Given the description of an element on the screen output the (x, y) to click on. 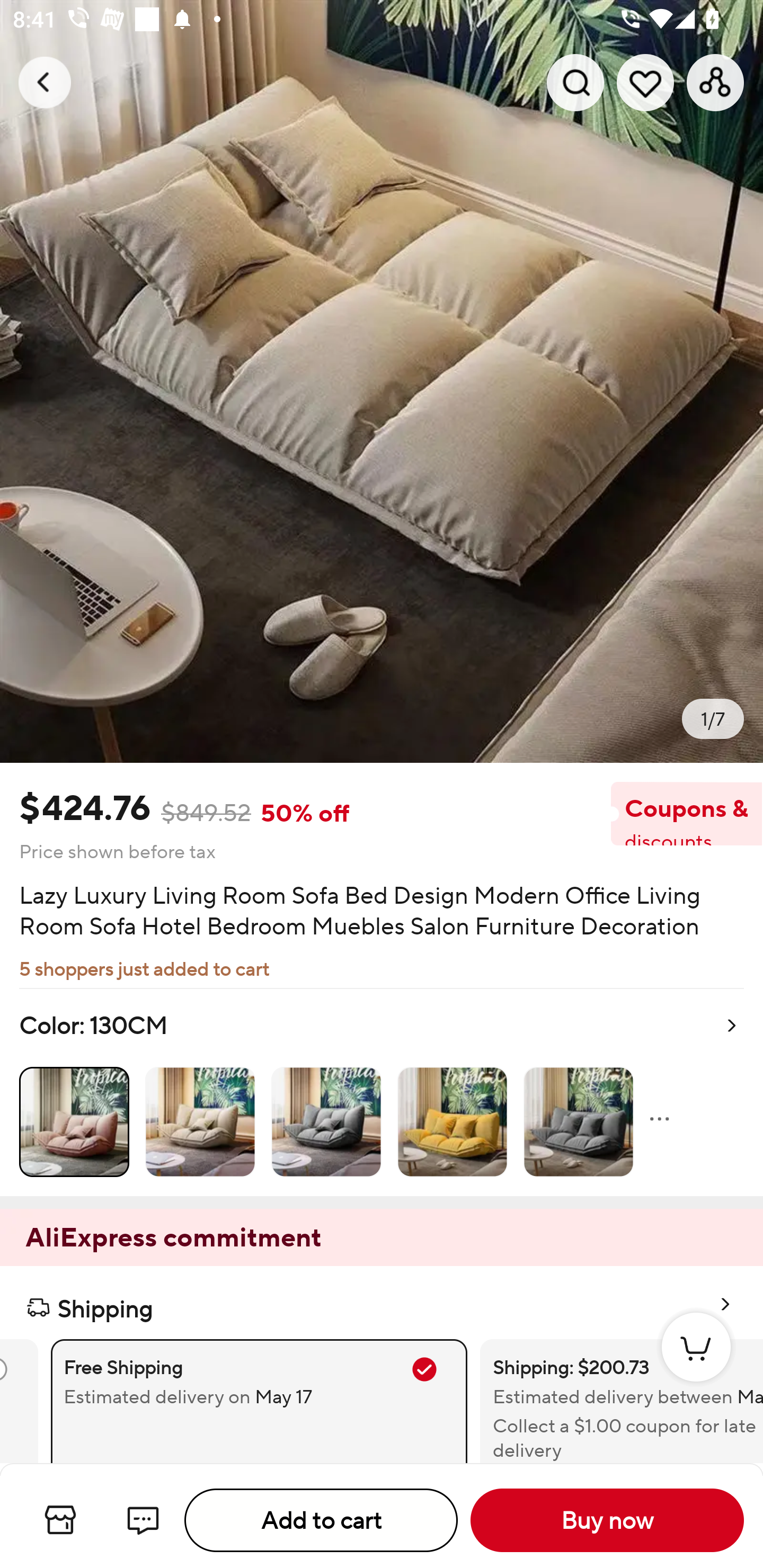
Navigate up (44, 82)
Color: 130CM  (381, 1092)
Free Shipping  Estimated delivery on May 17  (258, 1400)
Add to cart (320, 1520)
Buy now (606, 1520)
